Given the description of an element on the screen output the (x, y) to click on. 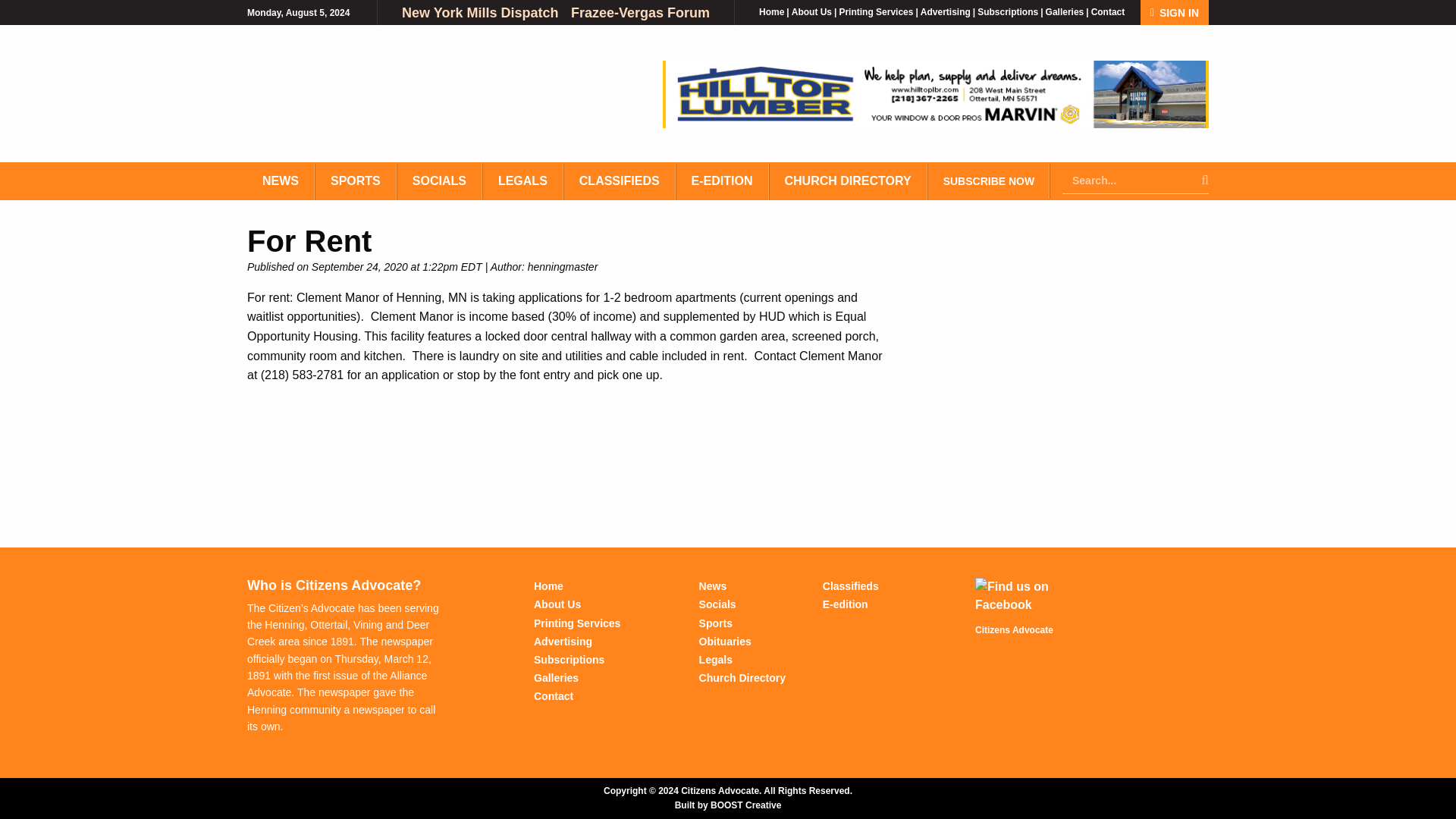
About Us (811, 11)
Contact (1107, 11)
Frazee-Vergas Forum (640, 11)
SIGN IN (1174, 12)
Home (771, 11)
Galleries (1064, 11)
Subscriptions (1007, 11)
NEWS (280, 180)
Advertising (945, 11)
Printing Services (875, 11)
